Given the description of an element on the screen output the (x, y) to click on. 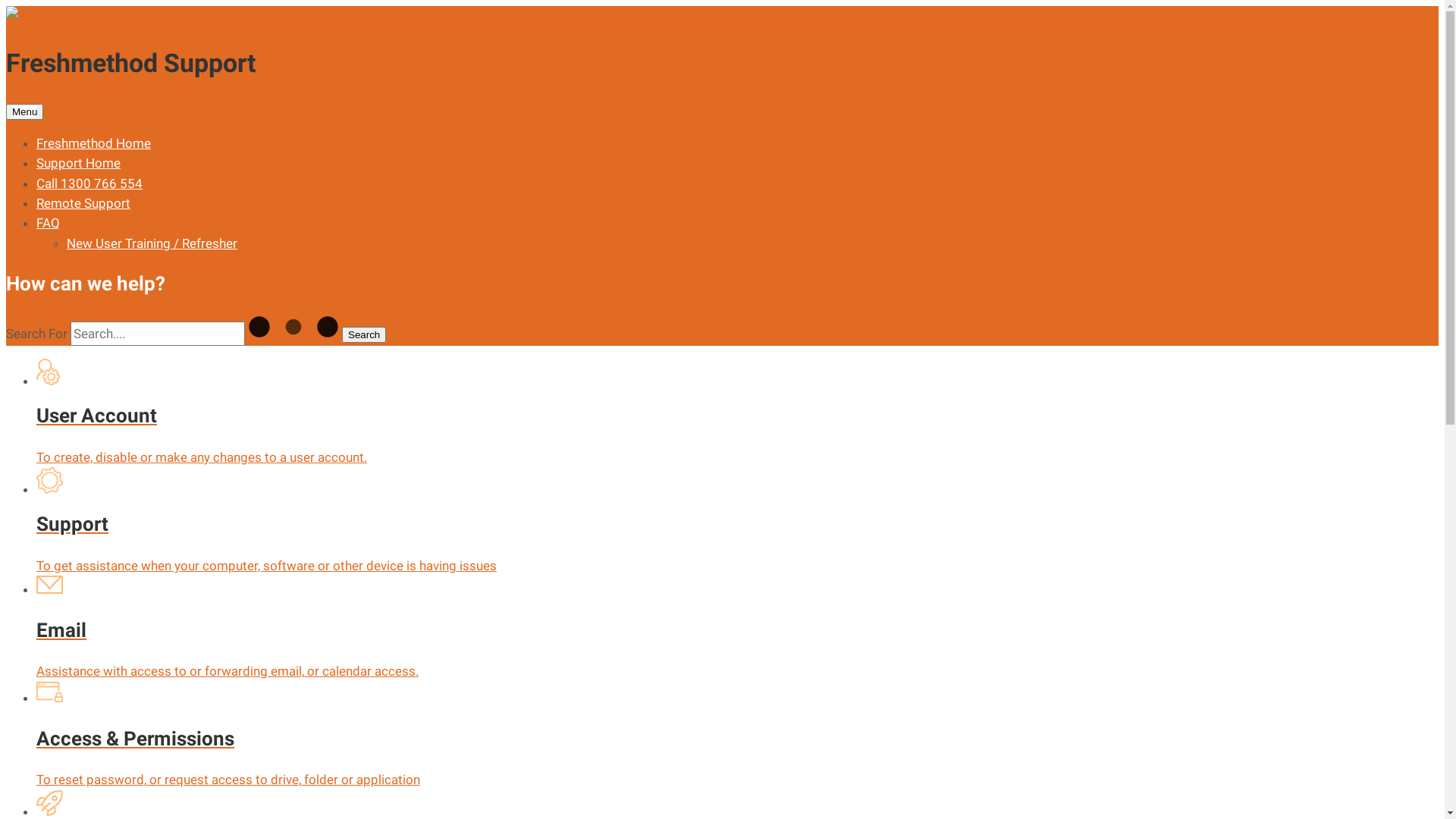
FAQ Element type: text (47, 222)
Call 1300 766 554 Element type: text (89, 183)
Remote Support Element type: text (83, 202)
Menu Element type: text (24, 111)
Support Home Element type: text (78, 162)
Freshmethod Home Element type: text (93, 142)
Freshmethod Support Element type: text (385, 45)
Search Element type: text (363, 334)
New User Training / Refresher Element type: text (151, 243)
